Given the description of an element on the screen output the (x, y) to click on. 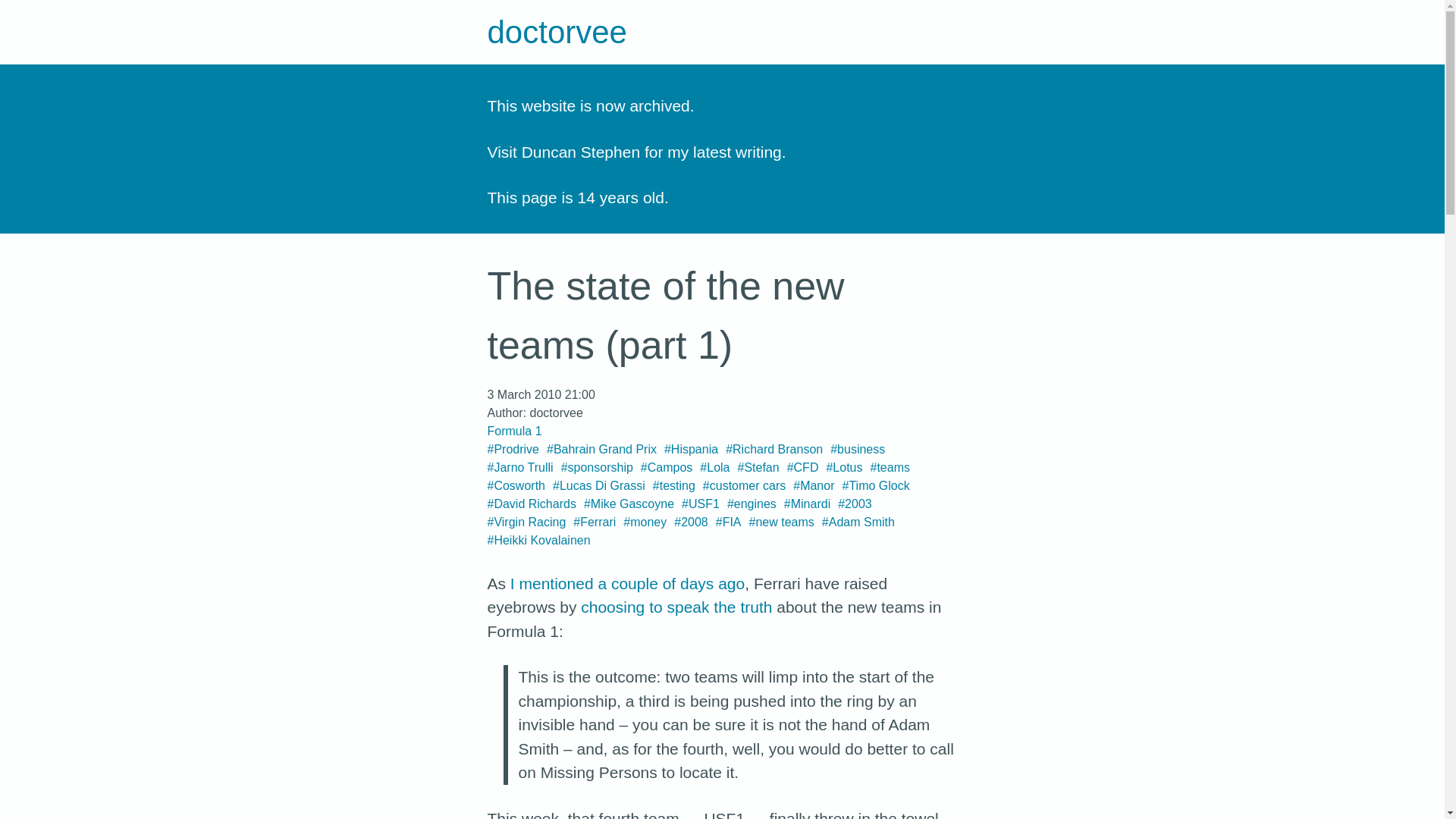
business (857, 449)
FIA (728, 521)
Cosworth (515, 485)
Timo Glock (874, 485)
Hispania (690, 449)
testing (673, 485)
2003 (855, 503)
David Richards (530, 503)
Stefan (757, 467)
choosing to speak the truth (675, 606)
Richard Branson (773, 449)
I mentioned a couple of days ago (627, 583)
Virgin Racing (526, 521)
Bahrain Grand Prix (601, 449)
Heikki Kovalainen (537, 540)
